Given the description of an element on the screen output the (x, y) to click on. 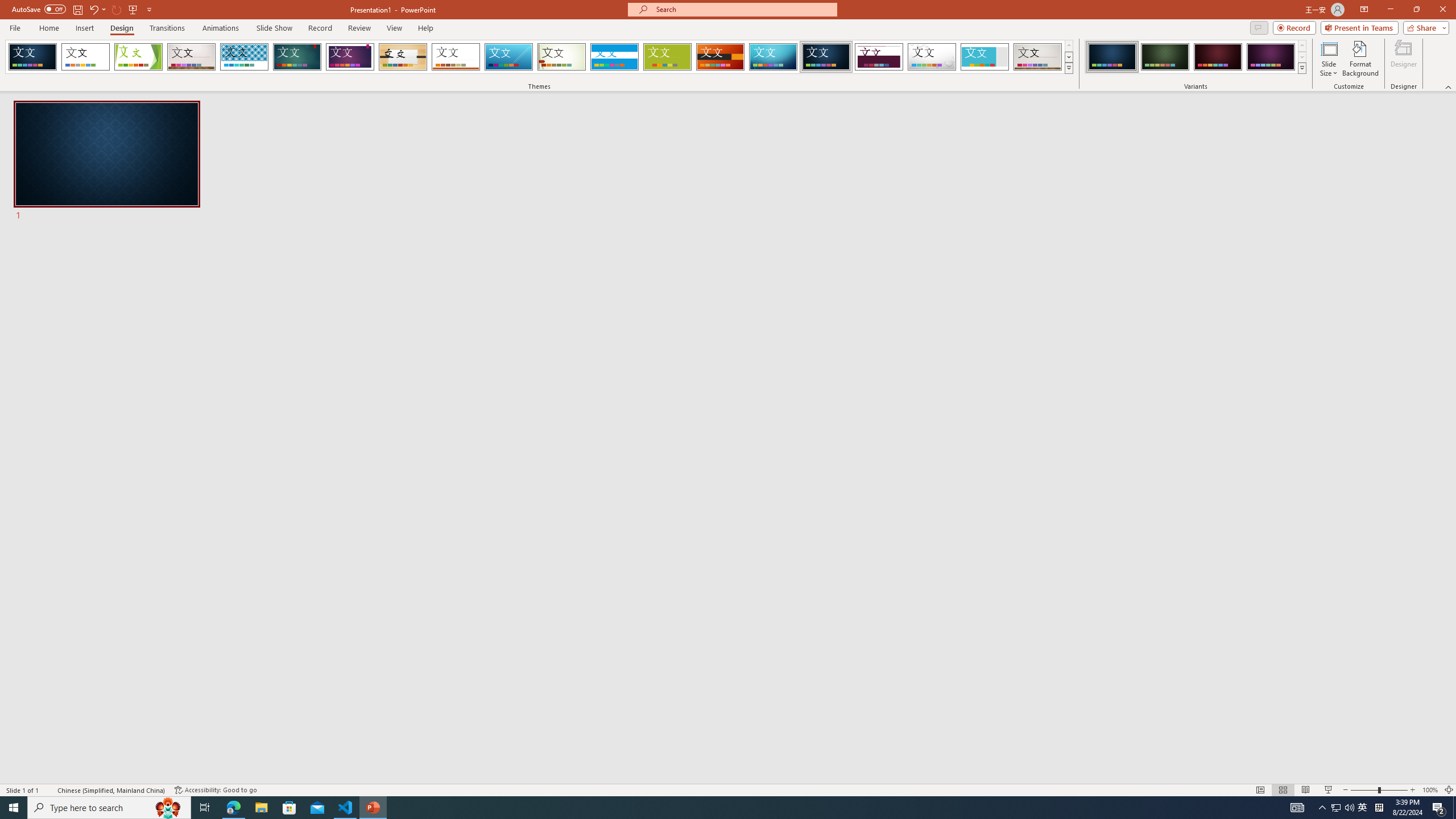
Zoom 100% (1430, 790)
Frame Loading Preview... (984, 56)
Gallery Loading Preview... (1037, 56)
Facet (138, 56)
Damask Variant 4 (1270, 56)
Berlin Loading Preview... (720, 56)
Spell Check  (49, 790)
